Given the description of an element on the screen output the (x, y) to click on. 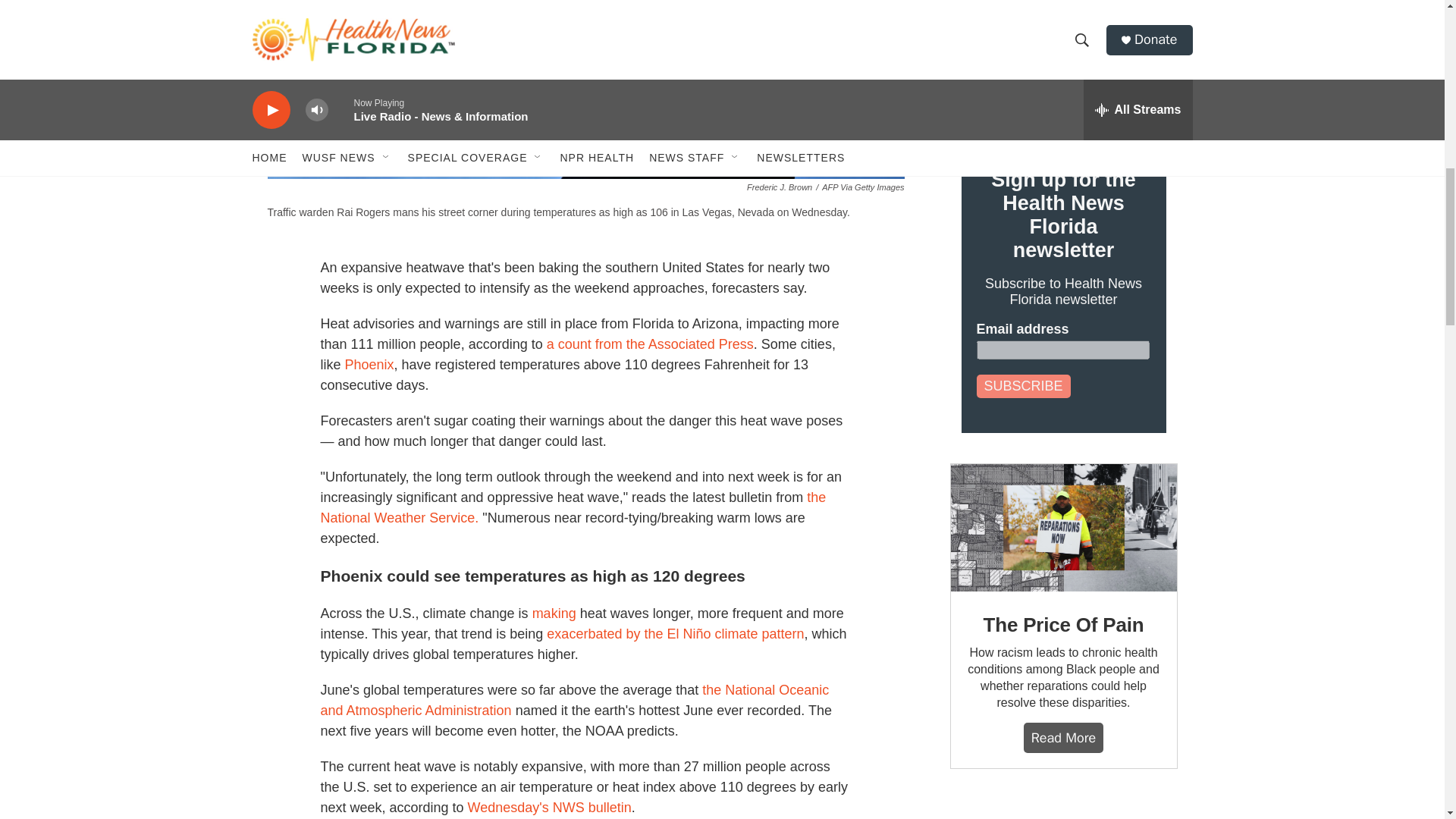
3rd party ad content (1062, 809)
